Given the description of an element on the screen output the (x, y) to click on. 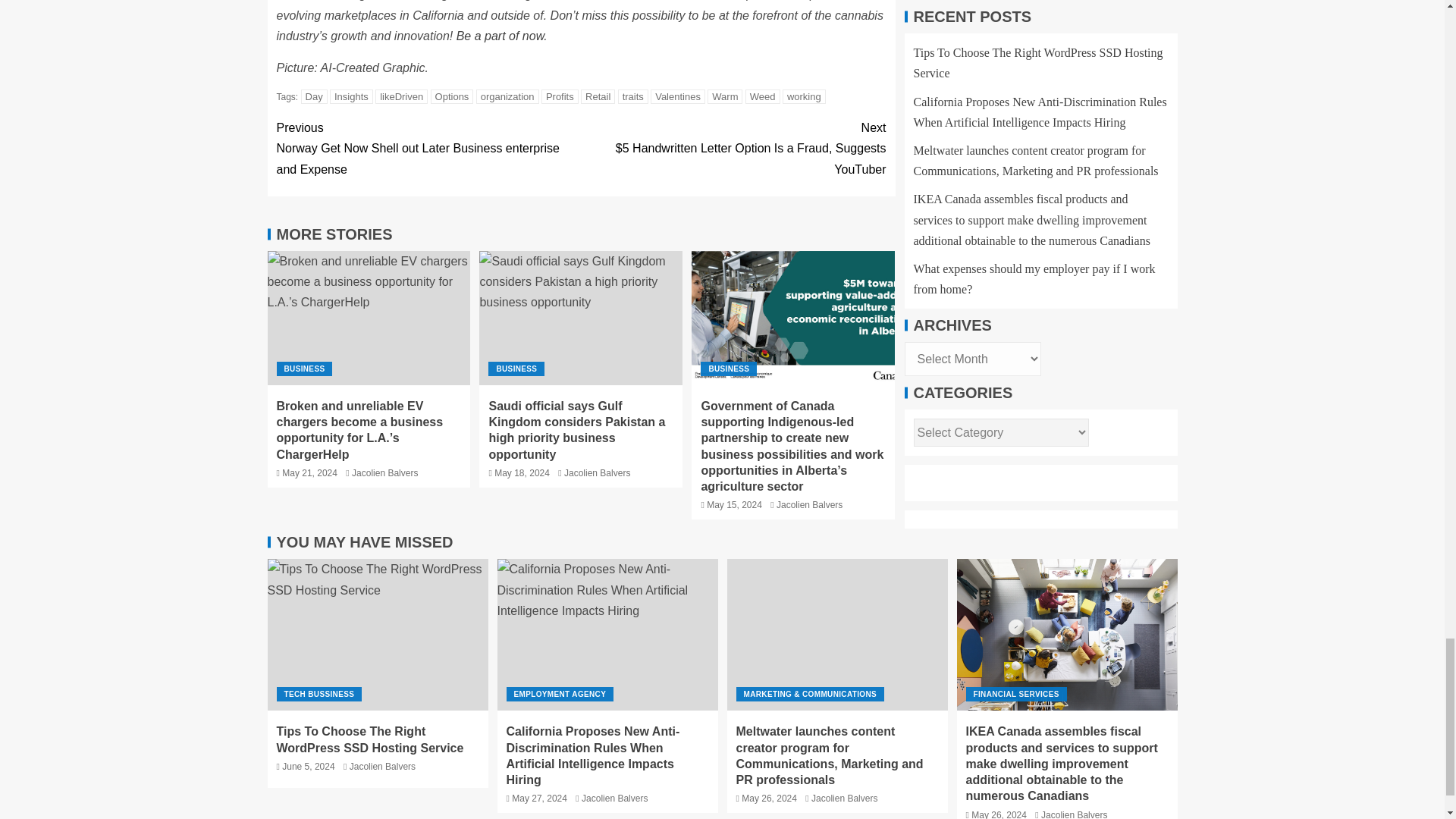
likeDriven (401, 96)
Profits (559, 96)
Tips To Choose The Right WordPress SSD Hosting Service (376, 634)
Day (314, 96)
organization (507, 96)
Be a part of now (500, 35)
Insights (351, 96)
Options (452, 96)
